Given the description of an element on the screen output the (x, y) to click on. 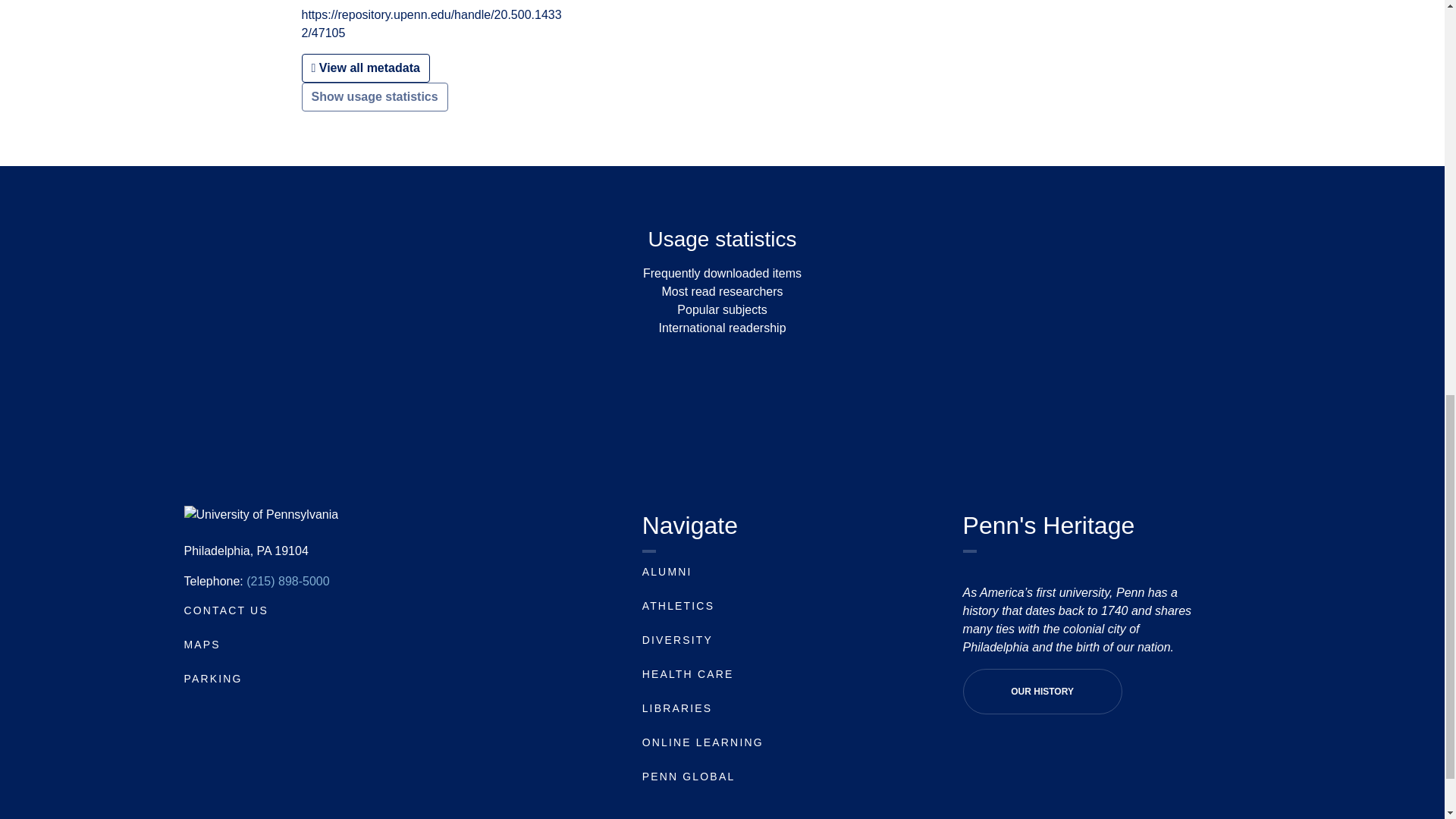
Most read researchers (722, 291)
Frequently downloaded items (722, 273)
Popular subjects (722, 309)
International readership (722, 327)
ATHLETICS (678, 605)
OUR HISTORY (1042, 691)
Show usage statistics (374, 96)
View all metadata (365, 68)
LIBRARIES (677, 707)
CONTACT US (225, 610)
ONLINE LEARNING (702, 742)
PARKING (212, 678)
HEALTH CARE (687, 674)
Frequently downloaded items (722, 273)
International readership (722, 327)
